Given the description of an element on the screen output the (x, y) to click on. 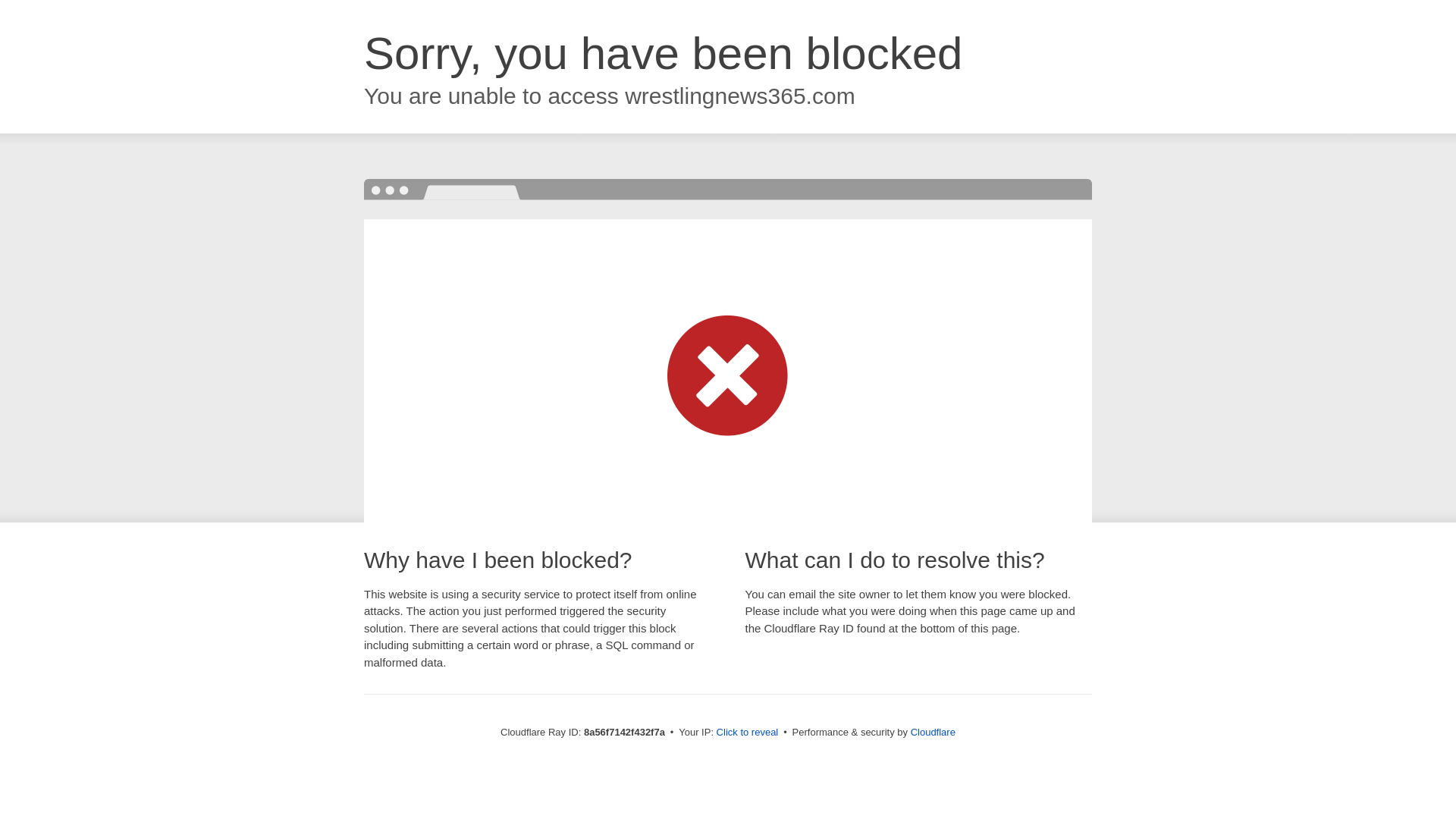
Cloudflare (933, 731)
Click to reveal (747, 732)
